Given the description of an element on the screen output the (x, y) to click on. 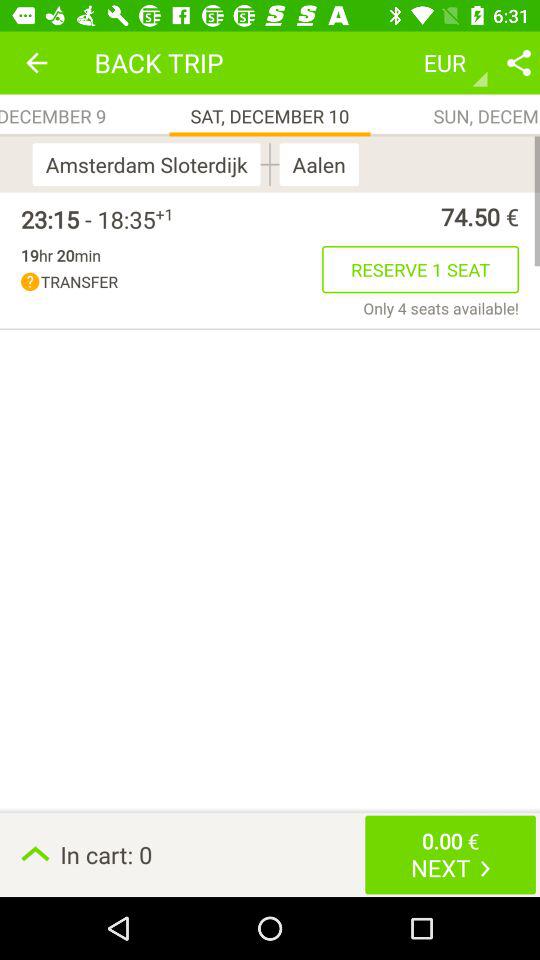
jump until the reserve 1 seat icon (420, 269)
